Given the description of an element on the screen output the (x, y) to click on. 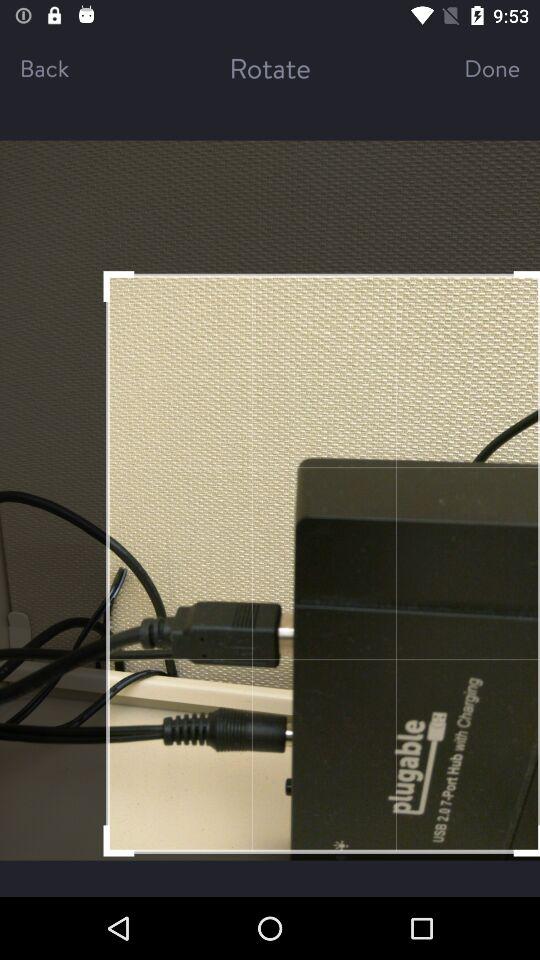
turn off the icon next to the rotate (474, 67)
